Given the description of an element on the screen output the (x, y) to click on. 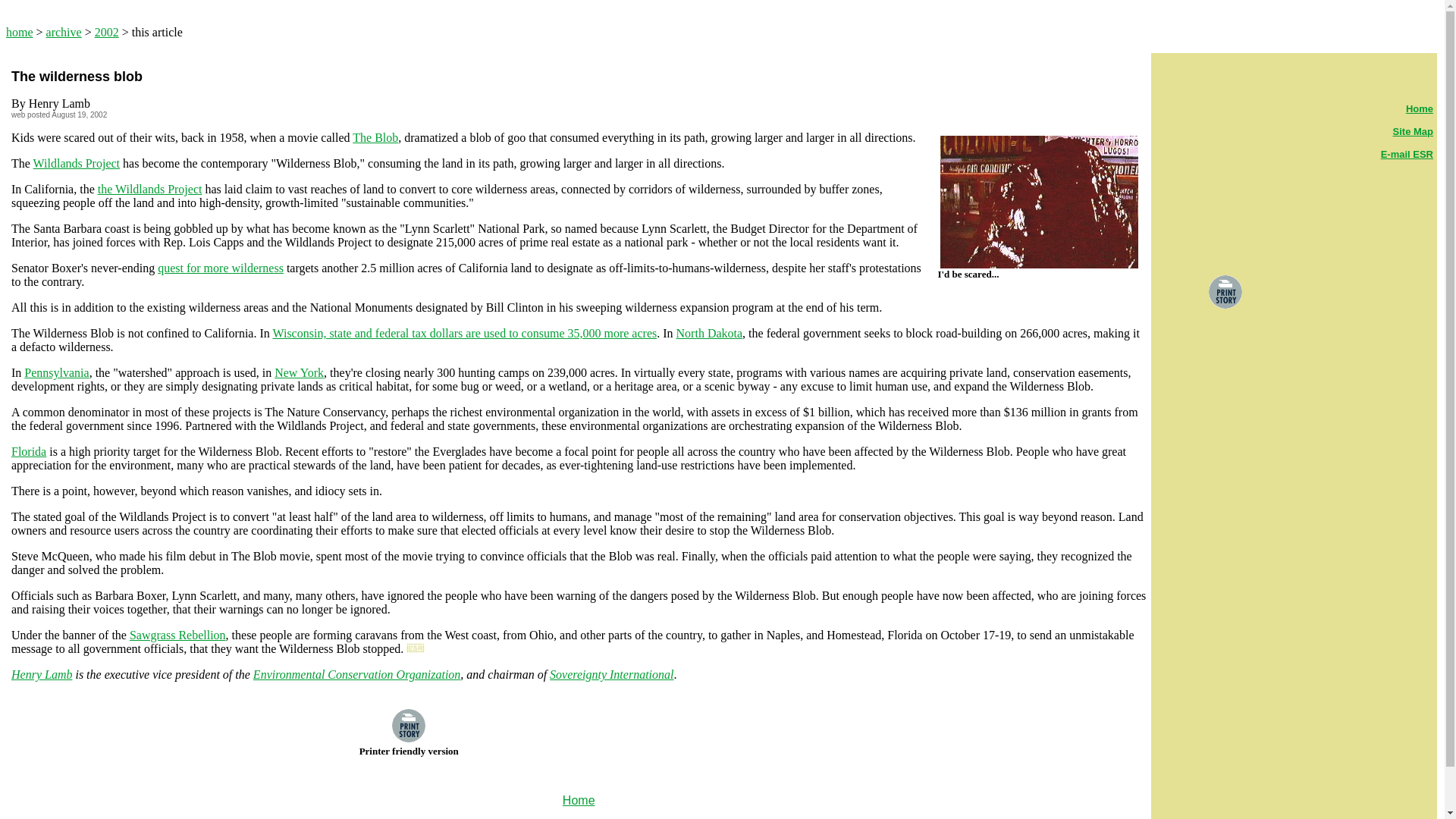
Florida (28, 451)
the Wildlands Project (149, 188)
2002 (106, 31)
Sovereignty International (611, 674)
North Dakota (709, 332)
Henry Lamb (41, 674)
Wildlands Project (76, 163)
The Blob (374, 137)
Pennsylvania (56, 372)
home (19, 31)
Home (578, 799)
Sawgrass Rebellion (177, 634)
Environmental Conservation Organization (356, 674)
quest for more wilderness (220, 267)
